Given the description of an element on the screen output the (x, y) to click on. 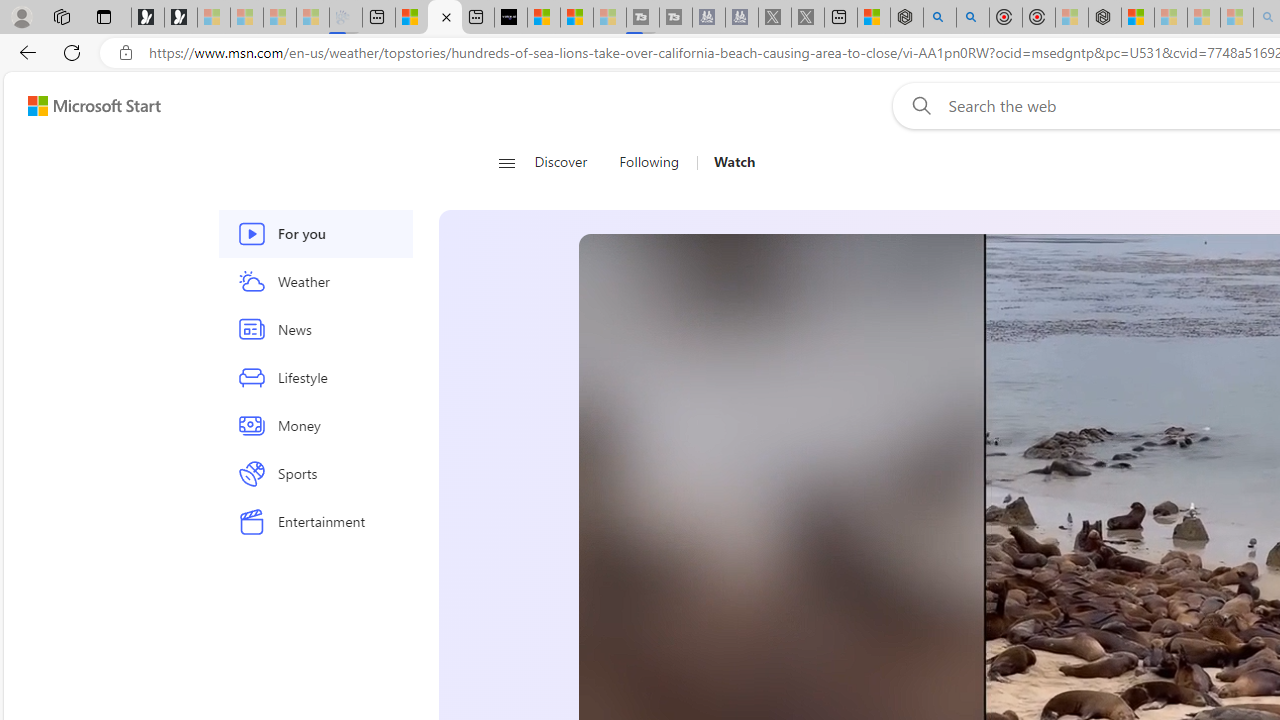
poe - Search (940, 17)
poe ++ standard - Search (973, 17)
